Given the description of an element on the screen output the (x, y) to click on. 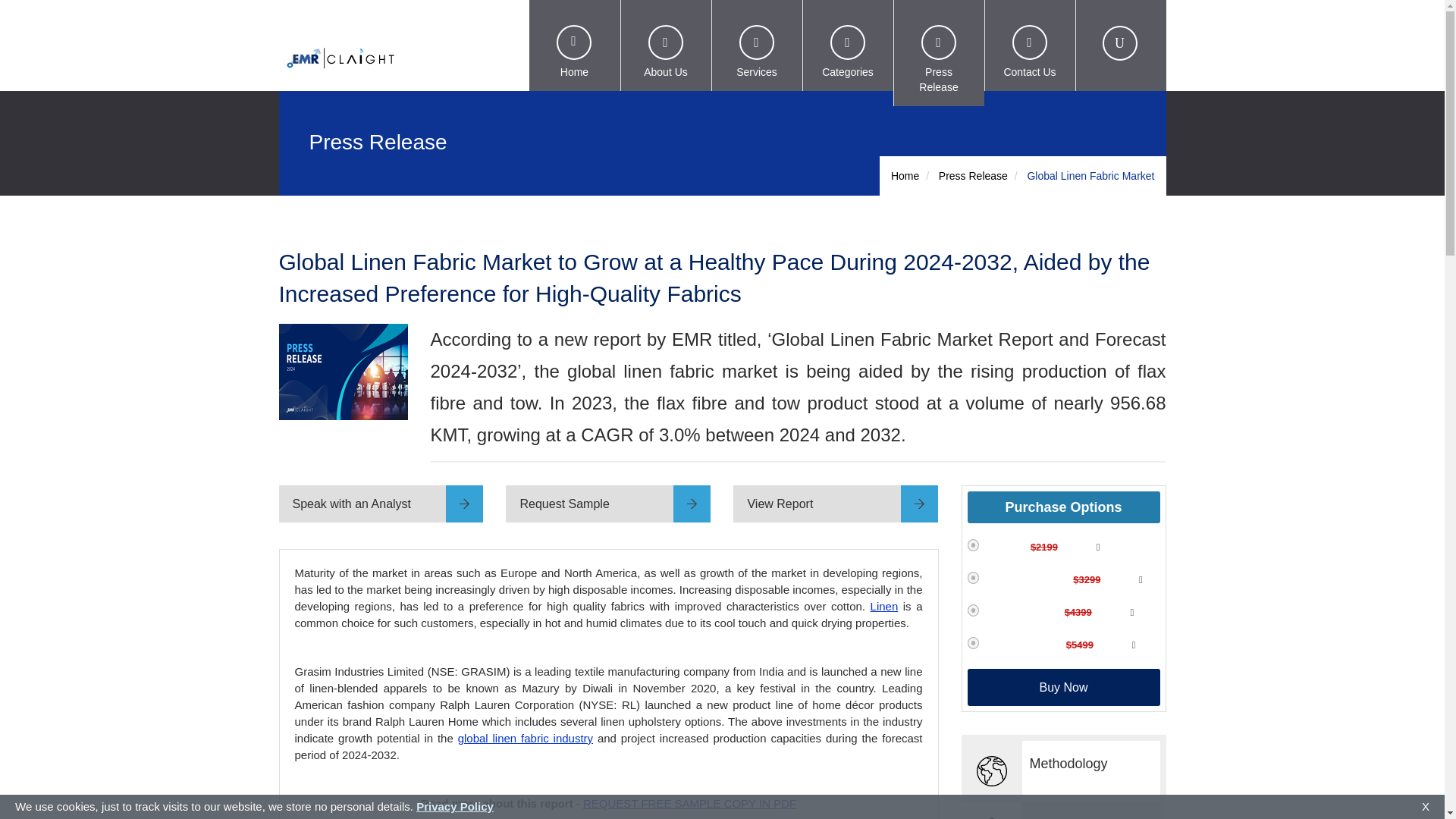
Categories (847, 45)
About Us (665, 45)
Home (574, 45)
Services (756, 45)
